Given the description of an element on the screen output the (x, y) to click on. 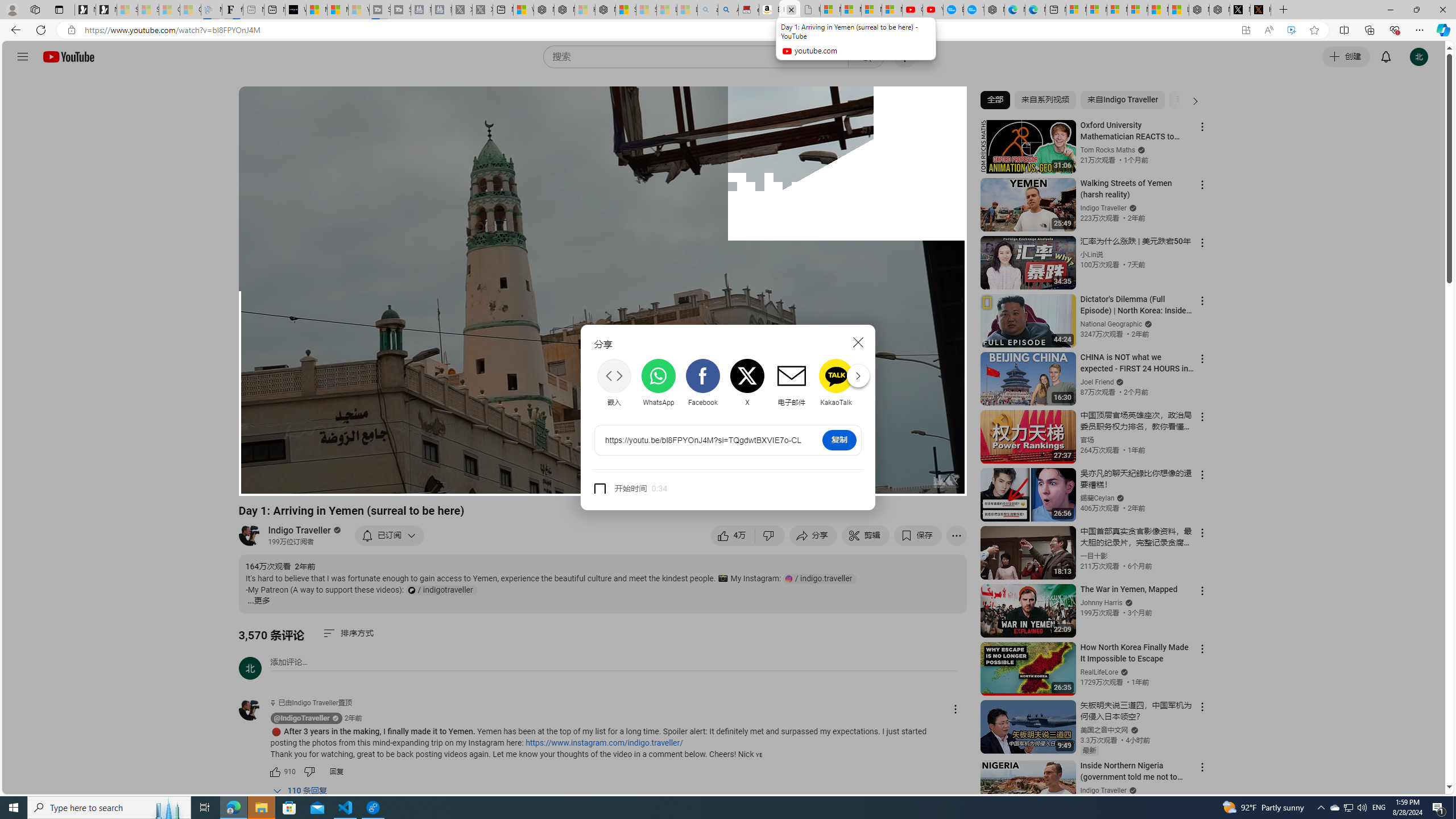
Gloom - YouTube (911, 9)
Nordace (@NordaceOfficial) / X (1239, 9)
